Given the description of an element on the screen output the (x, y) to click on. 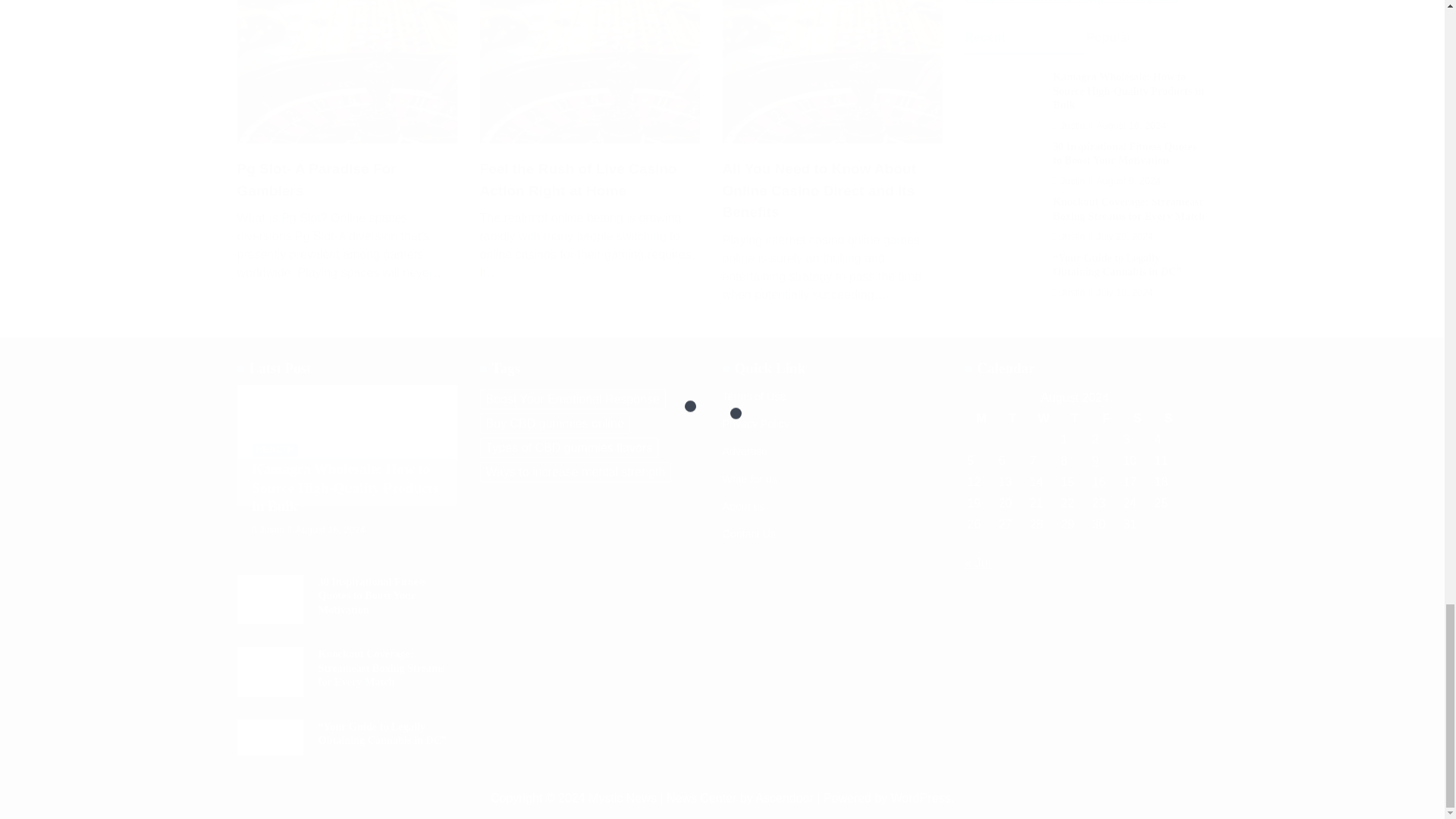
Tuesday (1012, 418)
Saturday (1136, 418)
Pg Slot- A Paradise For Gamblers (346, 179)
Wednesday (1043, 418)
Monday (980, 418)
Sunday (1167, 418)
Feel the Rush of Live Casino Action Right at Home (588, 179)
Thursday (1074, 418)
Friday (1105, 418)
